Given the description of an element on the screen output the (x, y) to click on. 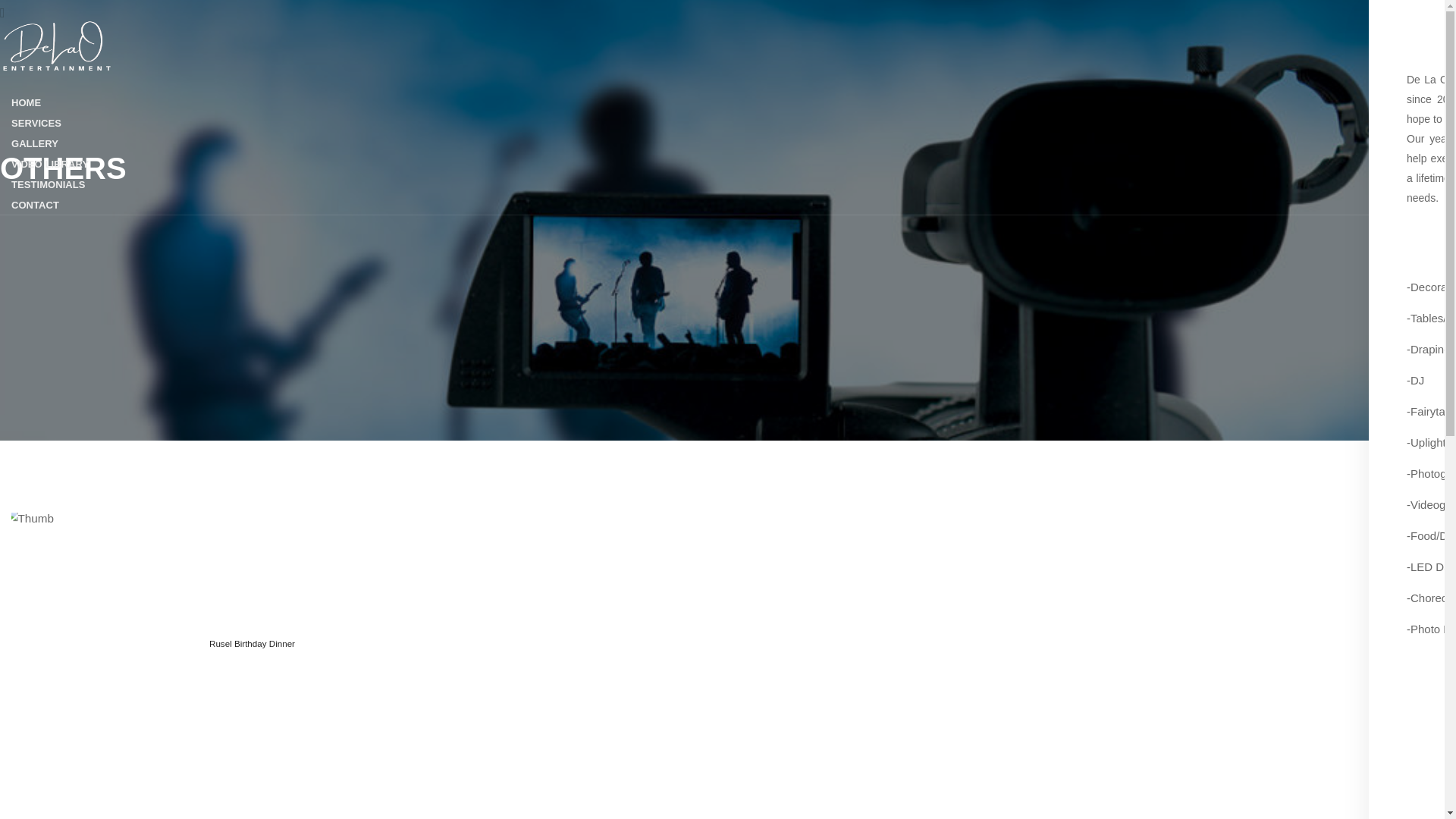
GALLERY (34, 143)
HOME (26, 102)
VIDEO LIBRARY (50, 163)
SERVICES (36, 122)
CONTACT (34, 204)
TESTIMONIALS (48, 184)
